Given the description of an element on the screen output the (x, y) to click on. 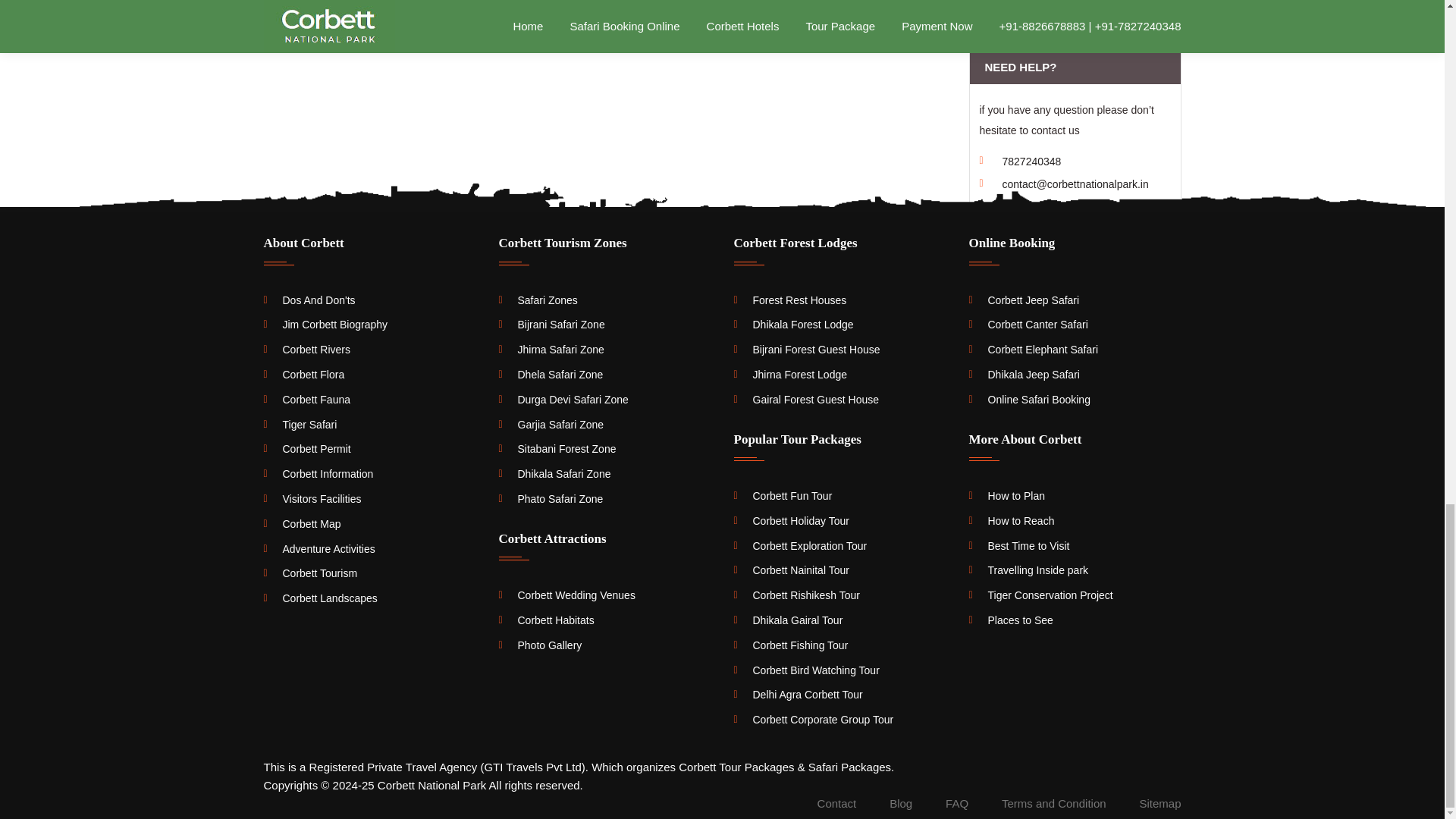
Corbett Rivers (306, 349)
Corbett Fauna (306, 399)
Corbett Information (318, 473)
Corbett Flora (304, 374)
Tiger Safari (300, 424)
Jim Corbett Biography (325, 324)
Anand Aamod Resort (1075, 6)
Corbett Permit (306, 449)
Dos And Don'ts (309, 300)
